Given the description of an element on the screen output the (x, y) to click on. 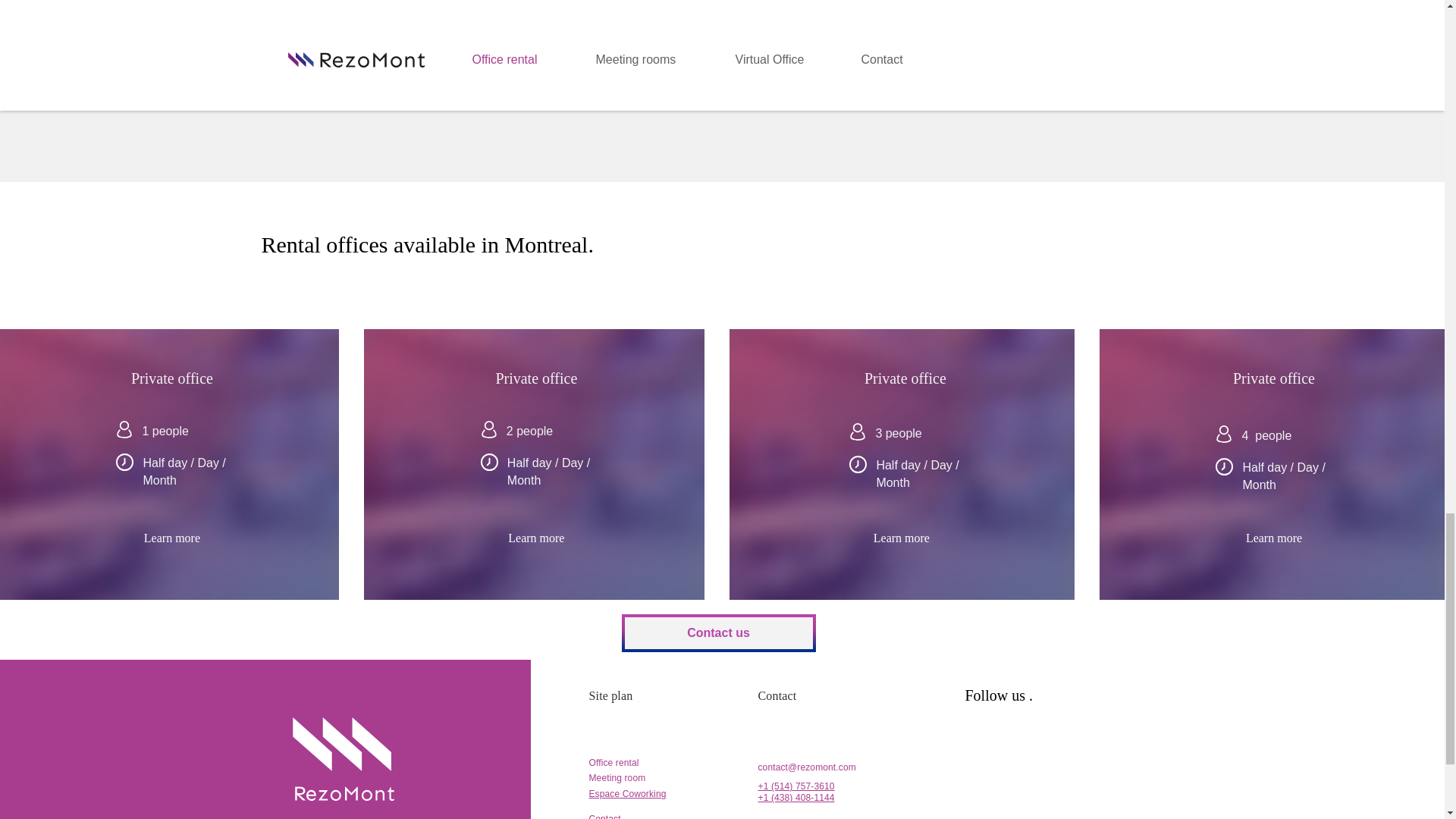
Espace Coworking (626, 793)
Contact (604, 816)
Contact us (718, 632)
Learn more (901, 538)
Discover our offers (708, 36)
Learn more (536, 538)
Learn more (171, 538)
Office rental (613, 762)
Learn more (1273, 538)
Meeting room (616, 777)
